Given the description of an element on the screen output the (x, y) to click on. 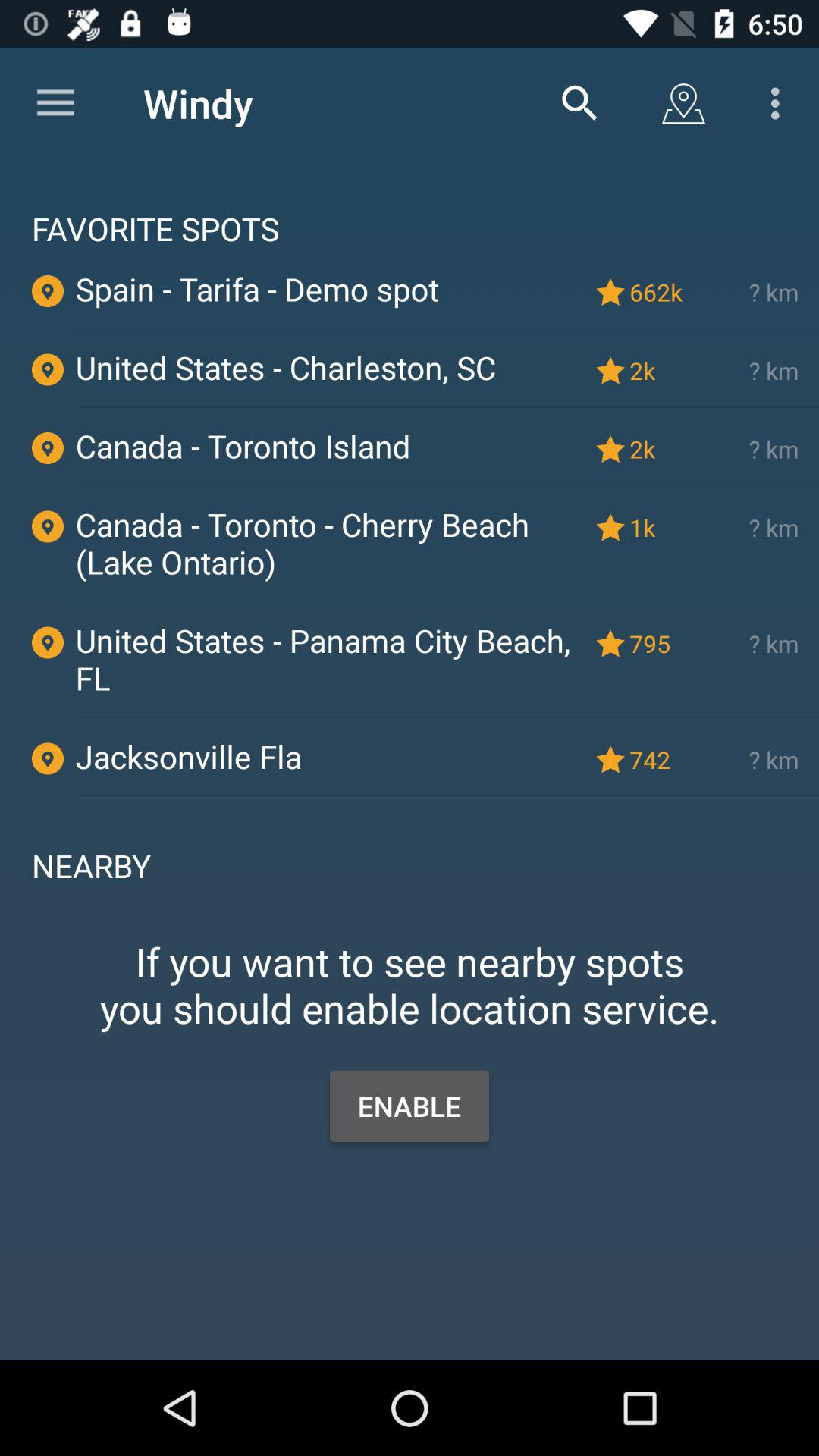
open the 795 icon (659, 643)
